Given the description of an element on the screen output the (x, y) to click on. 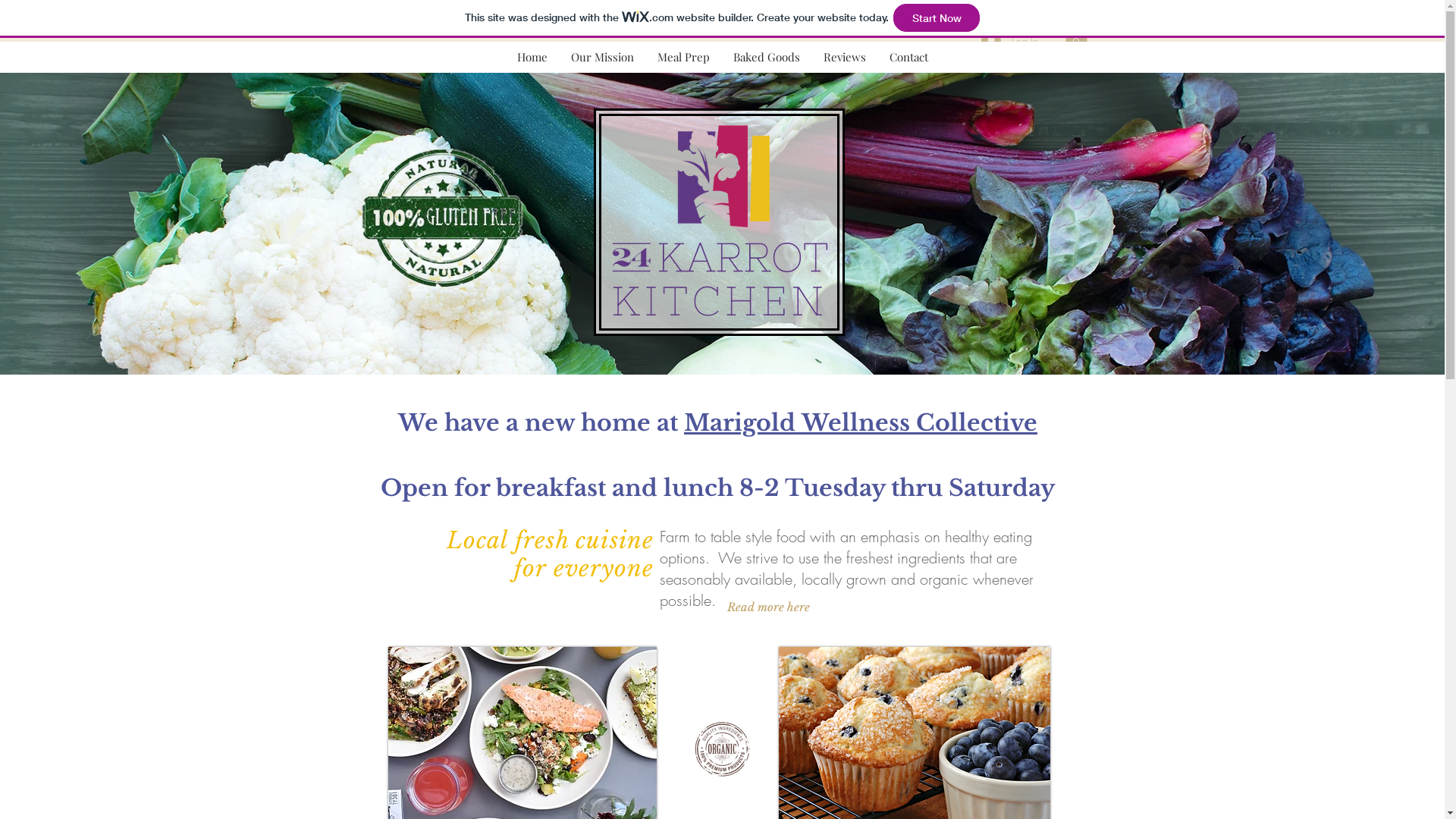
Home Element type: text (531, 56)
Our Mission Element type: text (601, 56)
Restaurant Social Bar Element type: hover (438, 314)
0 Element type: text (1075, 38)
Contact Element type: text (908, 56)
Meal Prep Element type: text (683, 56)
Baked Goods Element type: text (766, 56)
Log In Element type: text (1009, 39)
Reviews Element type: text (844, 56)
Read more here Element type: text (767, 606)
Marigold Wellness Collective Element type: text (860, 415)
